Given the description of an element on the screen output the (x, y) to click on. 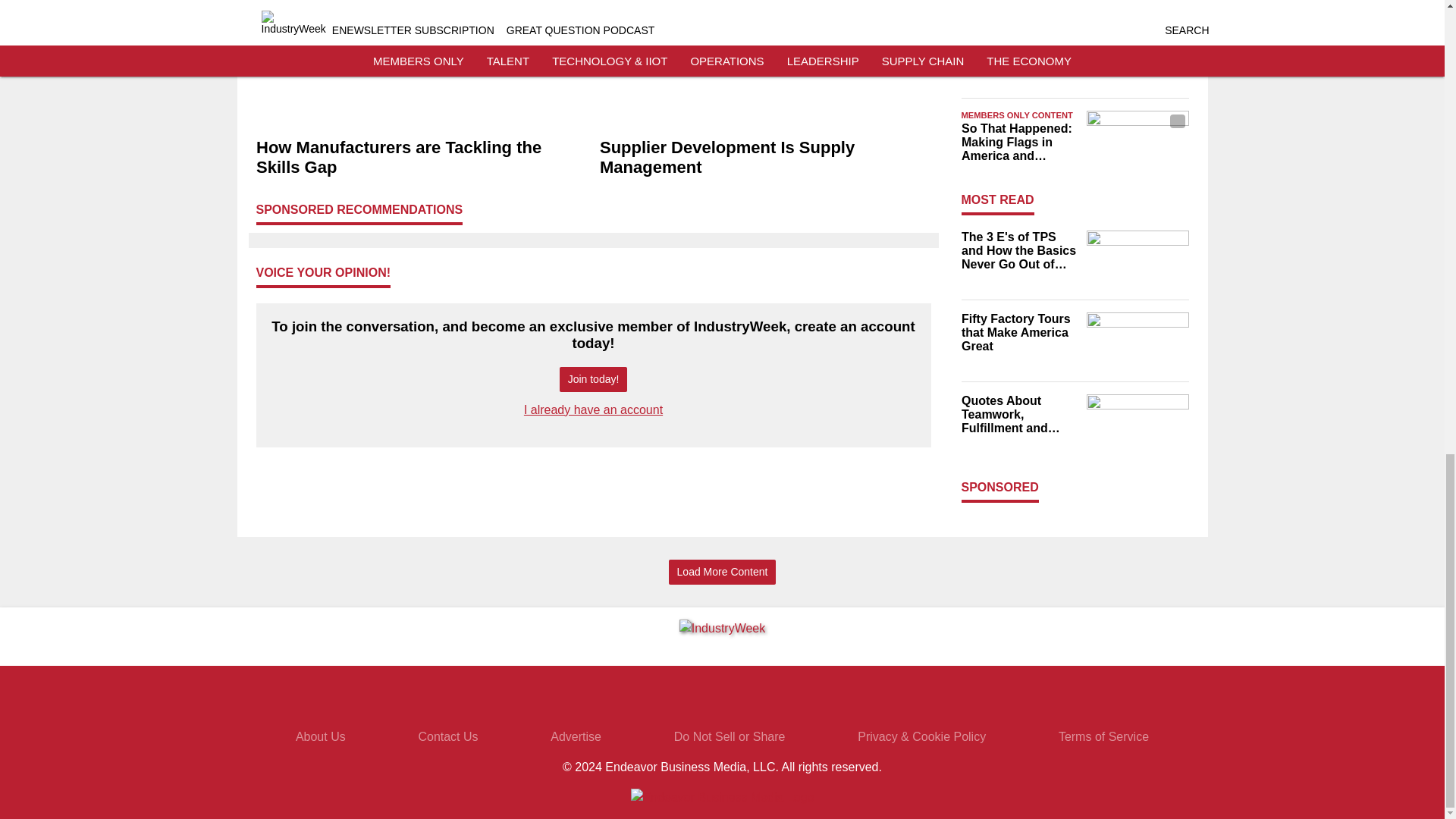
The 3 E's of TPS and How the Basics Never Go Out of Style (1019, 250)
How Manufacturers are Tackling the Skills Gap (422, 157)
Reshoring Takes Hold Across Multiple Industries (1019, 48)
Join today! (593, 379)
Supplier Development Is Supply Management (764, 157)
I already have an account (593, 409)
